Given the description of an element on the screen output the (x, y) to click on. 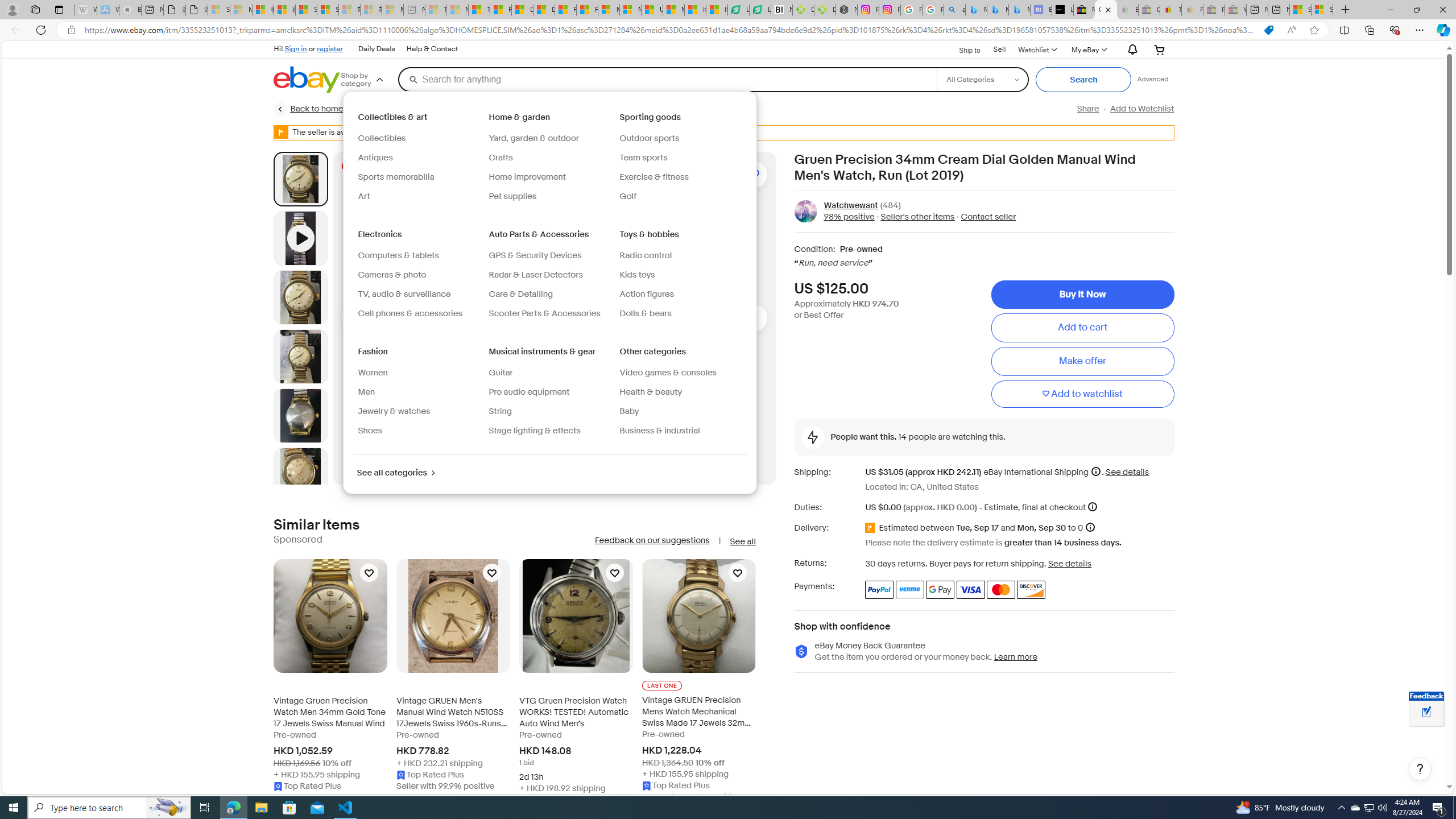
Antiques (375, 157)
Team sports (643, 157)
Ship to (962, 48)
Watchlist (1036, 49)
Collectibles & art (393, 117)
Collectibles (418, 138)
Computers & tablets (398, 255)
Exercise & fitness (679, 176)
Yard, garden & outdoor (549, 138)
Add to watchlist (1082, 394)
